Given the description of an element on the screen output the (x, y) to click on. 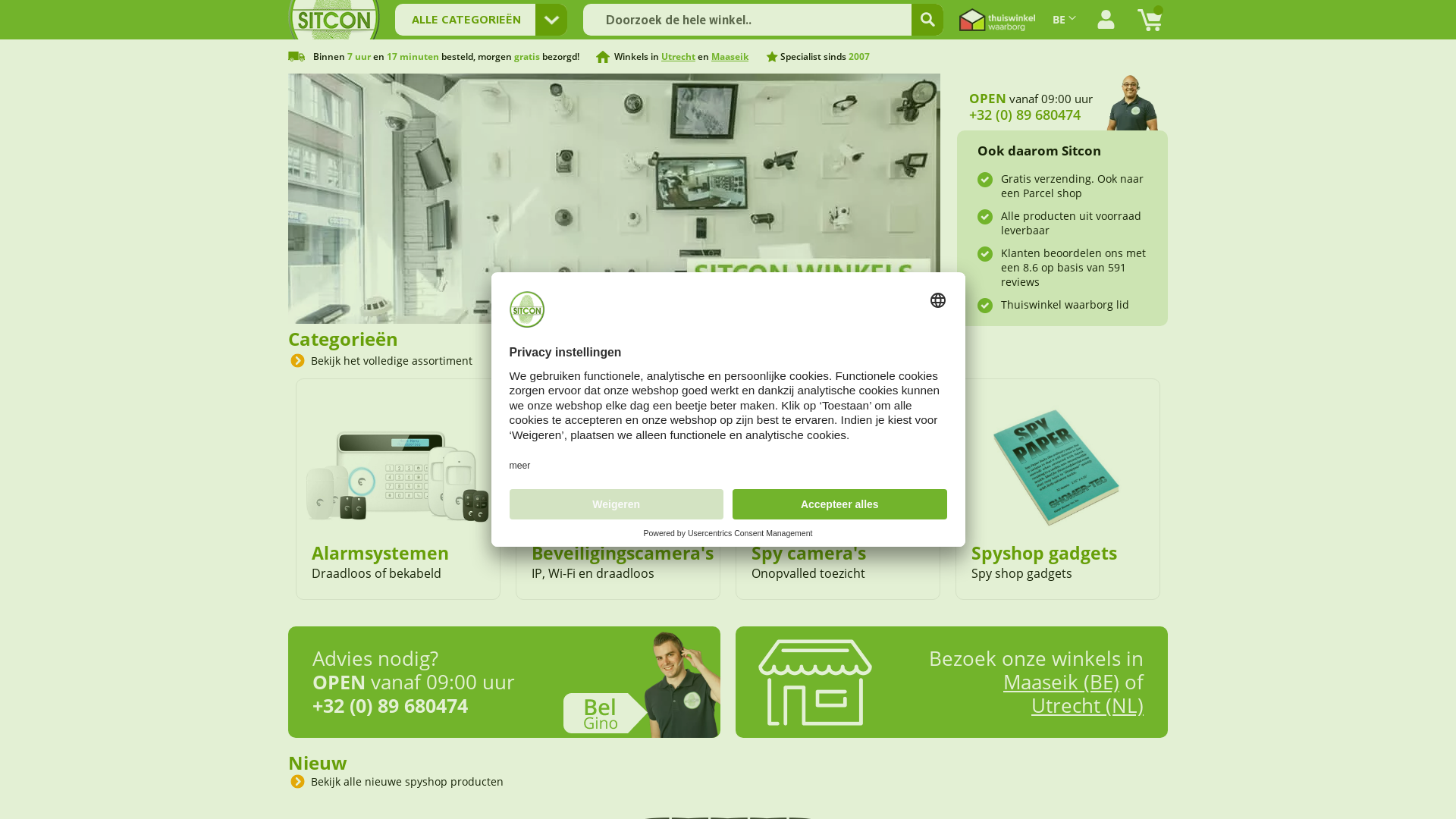
+32 (0) 89 680474 Element type: text (1024, 114)
Bekijk het volledige assortiment Element type: text (389, 360)
Utrecht (NL) Element type: text (1087, 704)
Maaseik (BE) Element type: text (1061, 681)
Maaseik Element type: text (729, 56)
Mijn account Element type: hover (1105, 19)
Utrecht Element type: text (678, 56)
Spyshop gadgets Element type: text (1044, 552)
Winkelwagen Element type: text (1149, 19)
Zoek Element type: text (927, 19)
Thuiswinkel Waarborg Element type: hover (997, 19)
Alarmsystemen Element type: text (379, 552)
Spy camera's Element type: text (808, 552)
Bekijk alle nieuwe spyshop producten Element type: text (405, 781)
+32 (0) 89 680474 Element type: text (389, 705)
Beveiligingscamera's Element type: text (622, 552)
